Given the description of an element on the screen output the (x, y) to click on. 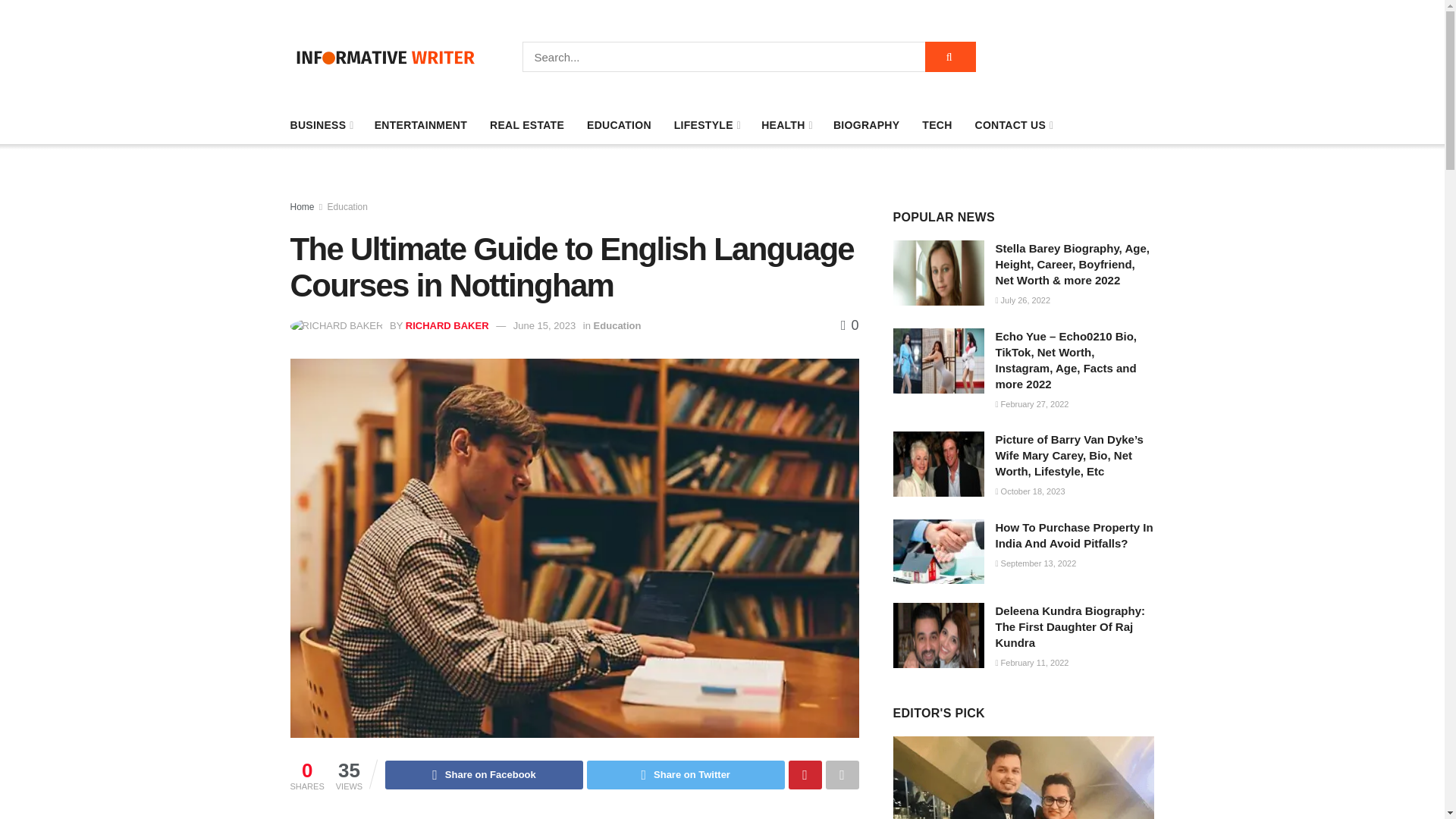
Home (301, 206)
HEALTH (785, 124)
BUSINESS (319, 124)
REAL ESTATE (526, 124)
ENTERTAINMENT (420, 124)
BIOGRAPHY (865, 124)
TECH (936, 124)
CONTACT US (1013, 124)
EDUCATION (618, 124)
LIFESTYLE (706, 124)
